Given the description of an element on the screen output the (x, y) to click on. 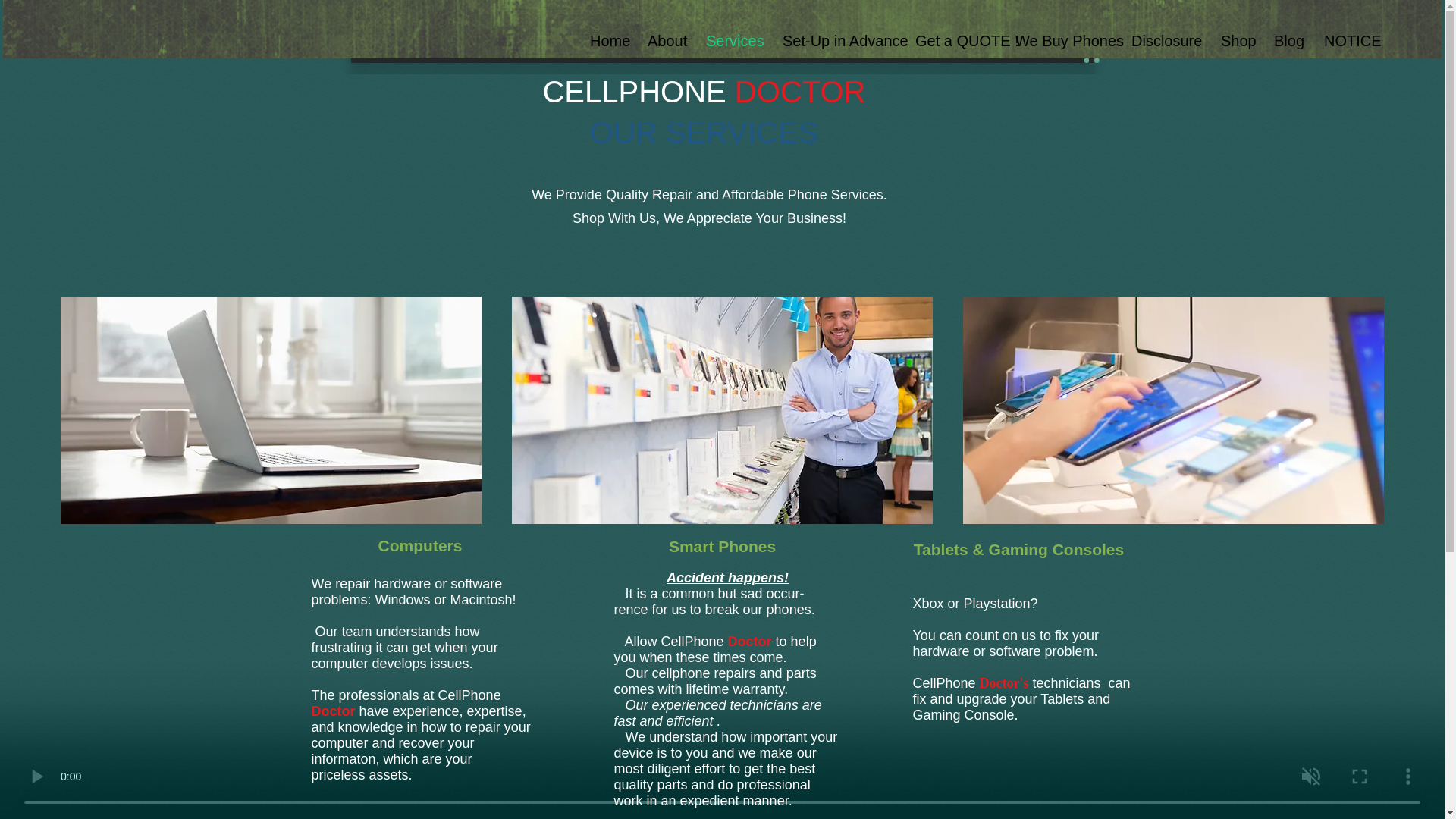
Disclosure (1164, 40)
We Buy Phones (1061, 40)
Get a QUOTE ! (954, 40)
Blog (1287, 40)
Shop (1235, 40)
About (665, 40)
Set-Up in Advance (837, 40)
Home (607, 40)
NOTICE (1343, 40)
Services (732, 40)
